Given the description of an element on the screen output the (x, y) to click on. 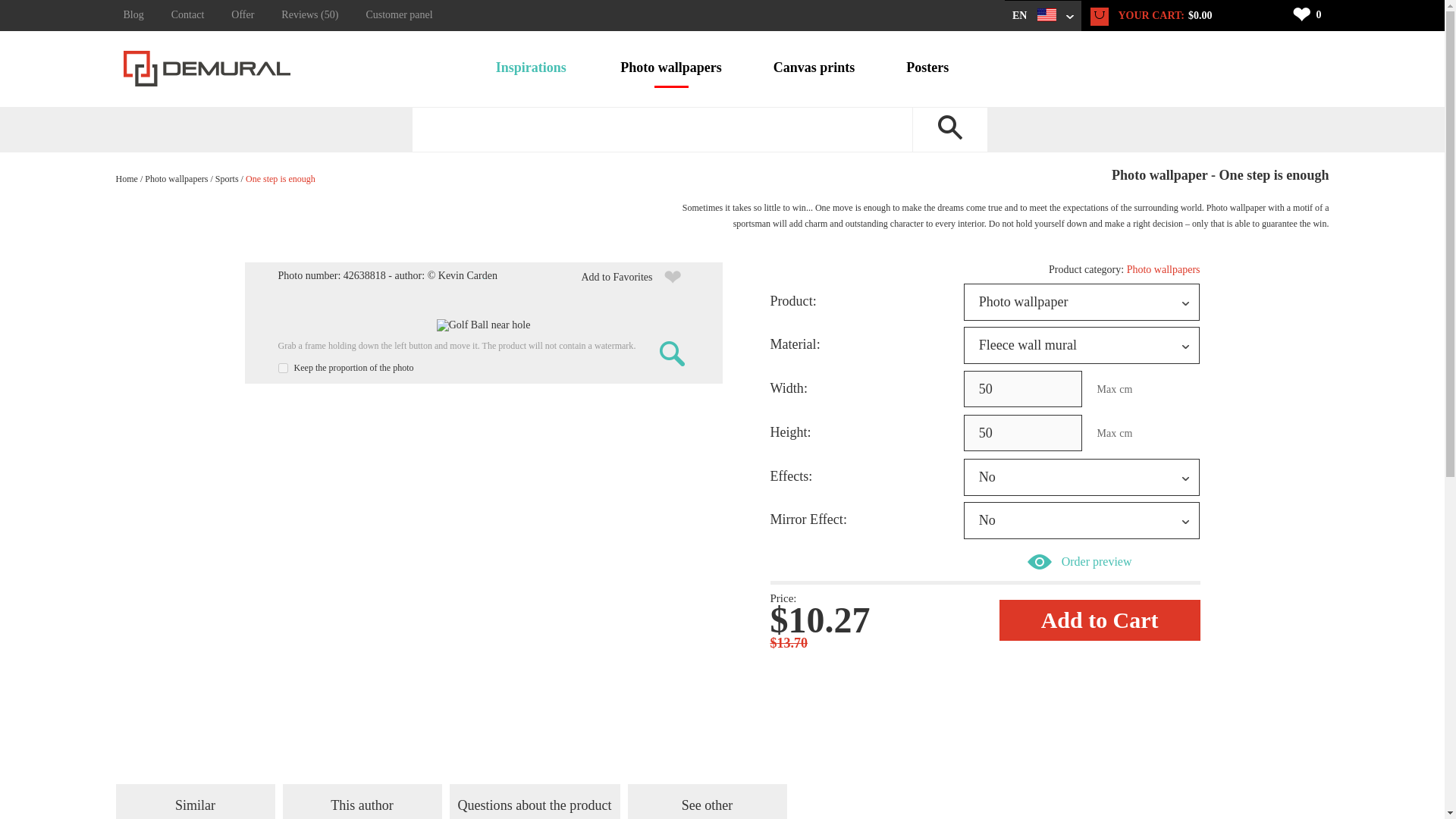
50 (1022, 432)
true (282, 368)
Offer (241, 15)
Blog (139, 15)
Inspirations (531, 69)
50 (1022, 389)
Add to Cart (1098, 619)
EN (1042, 15)
Customer panel (398, 15)
Photo wallpapers (671, 69)
Contact (187, 15)
Add to Favorites (634, 277)
